Given the description of an element on the screen output the (x, y) to click on. 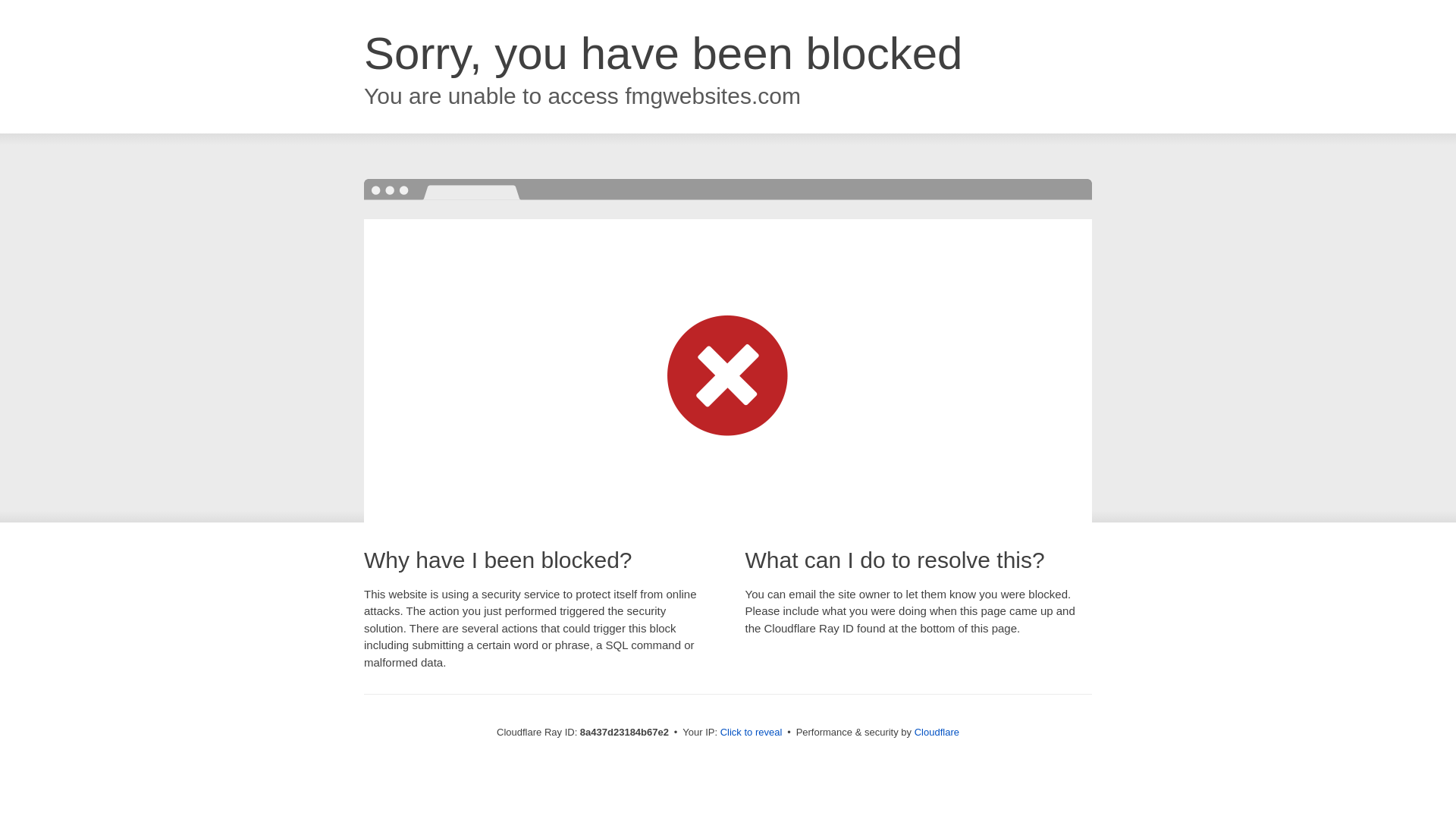
Cloudflare (936, 731)
Click to reveal (751, 732)
